Given the description of an element on the screen output the (x, y) to click on. 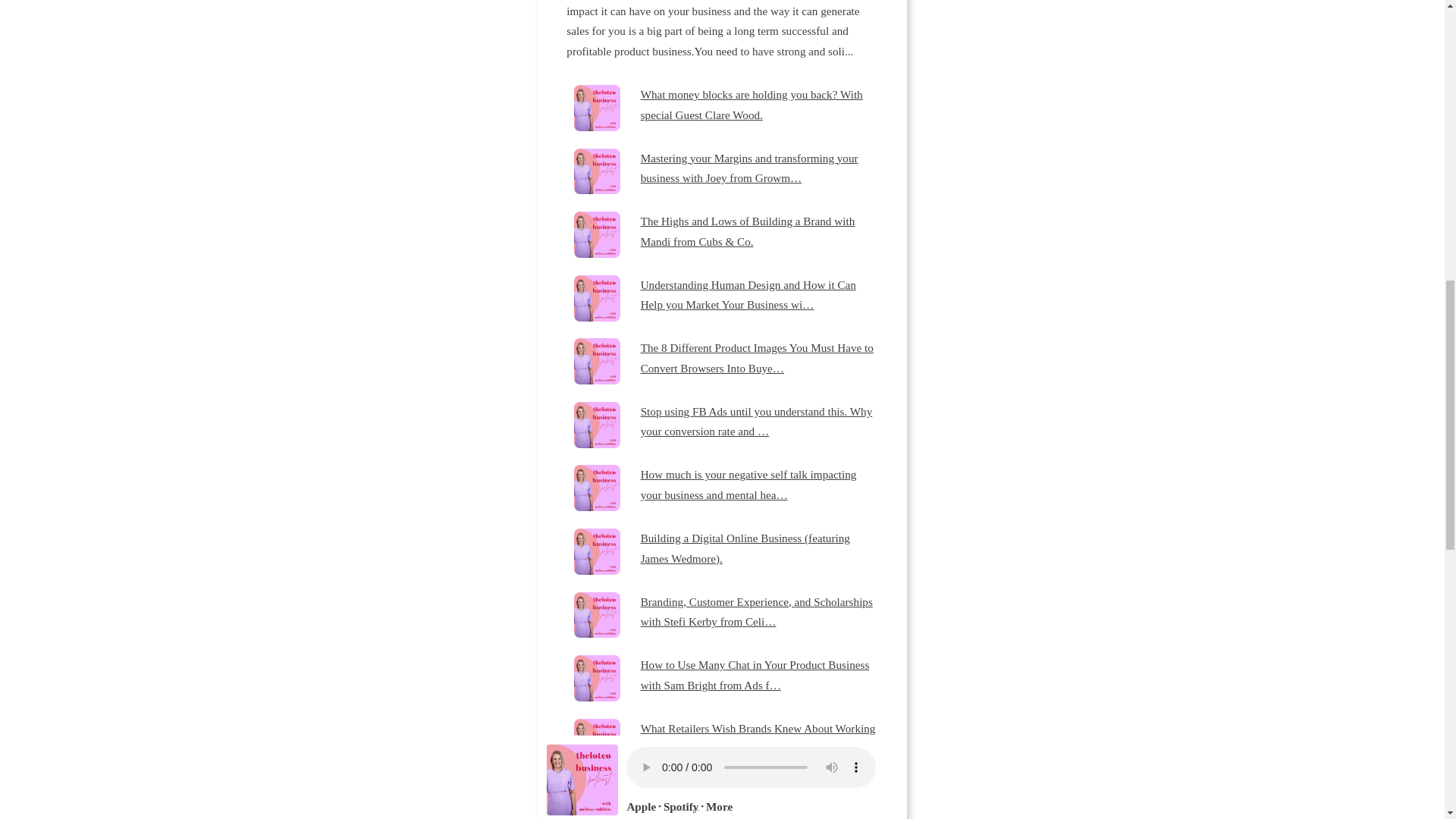
What Retailers Wish Brands Knew About Working With Them (758, 739)
What Retailers Wish Brands Knew About Working With Them (758, 739)
